Given the description of an element on the screen output the (x, y) to click on. 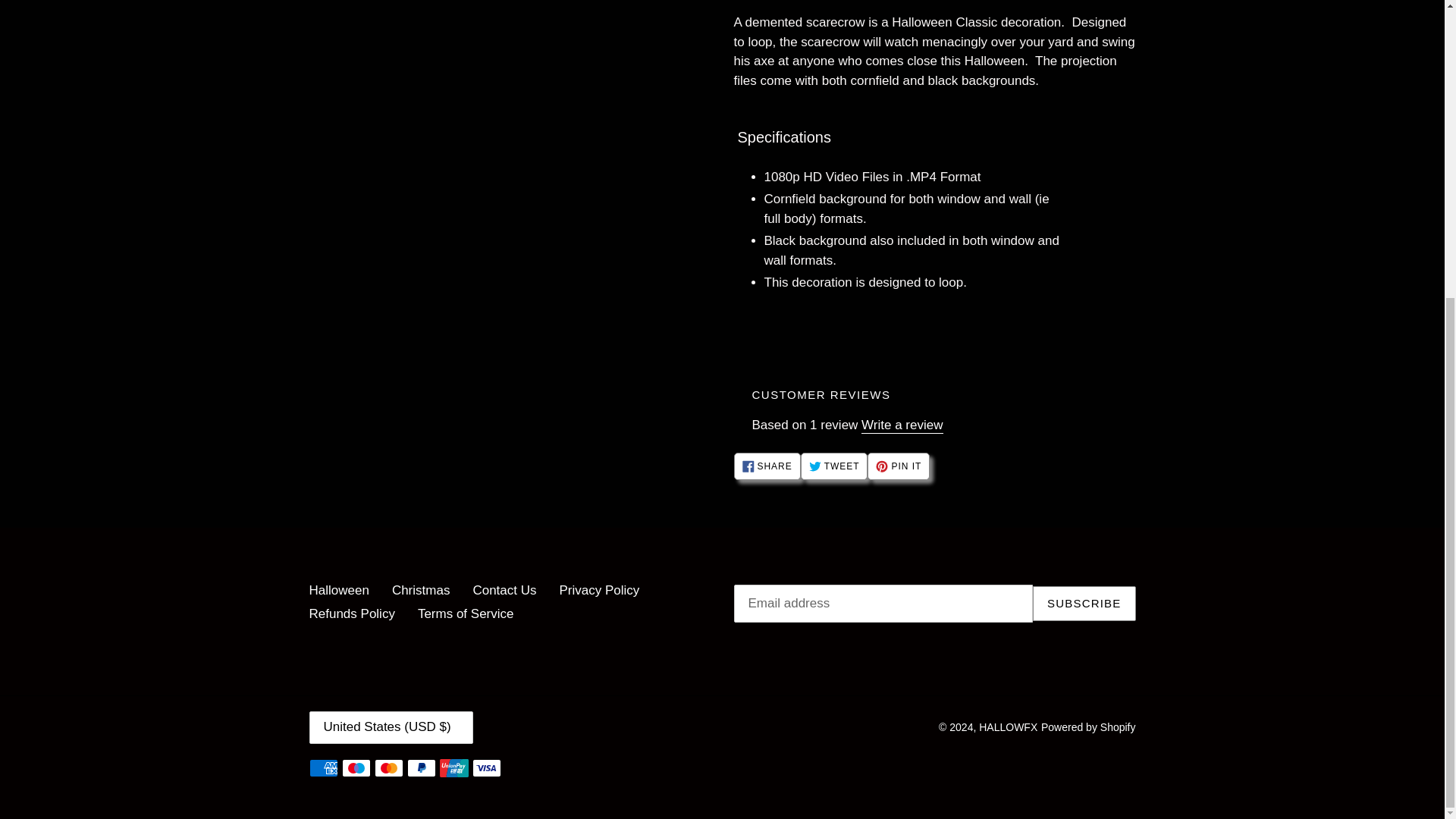
Christmas (420, 590)
Terms of Service (465, 613)
Halloween (833, 465)
Refunds Policy (898, 465)
Write a review (338, 590)
SUBSCRIBE (351, 613)
Privacy Policy (901, 425)
